Given the description of an element on the screen output the (x, y) to click on. 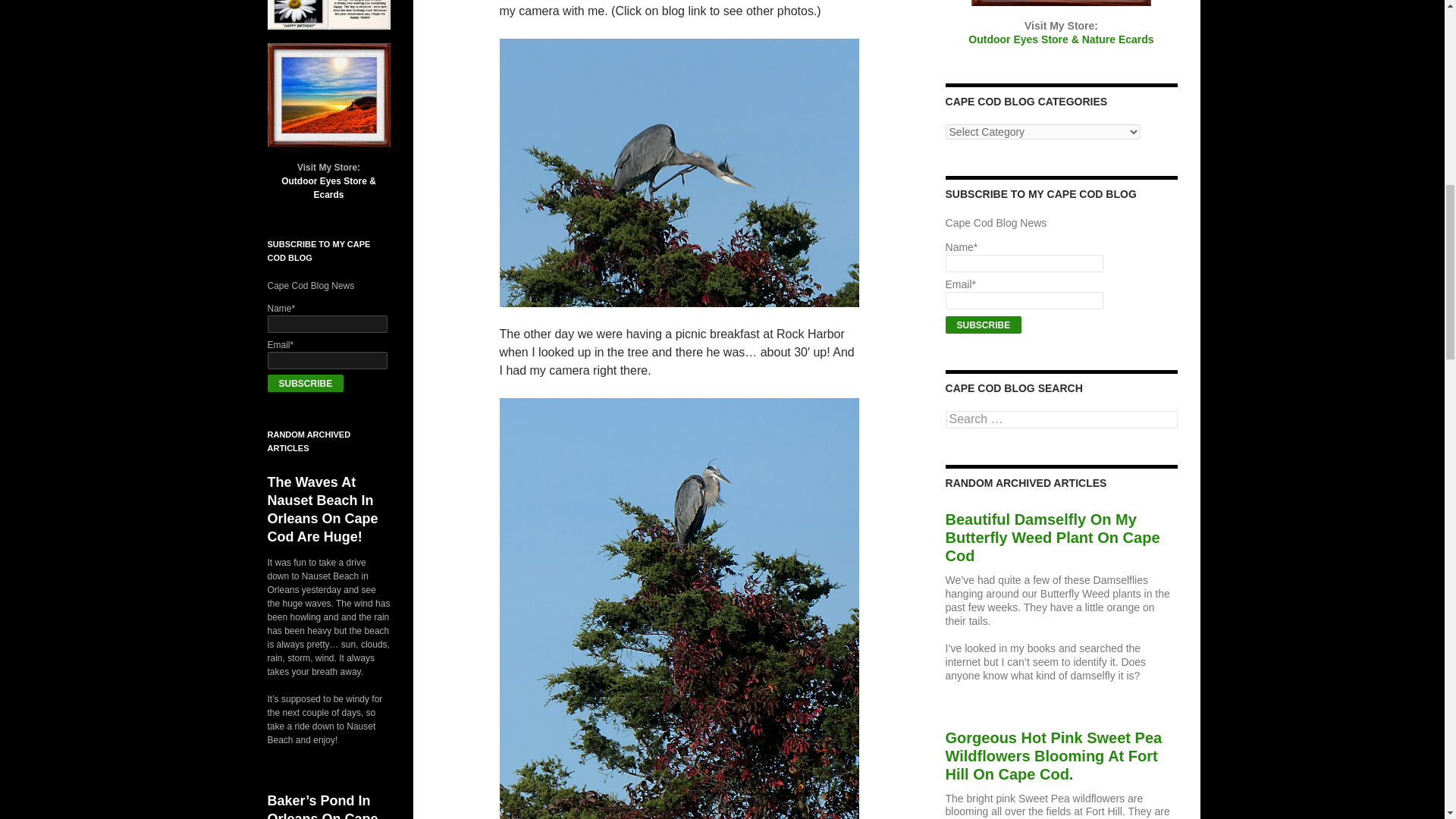
Subscribe (983, 324)
Subscribe (304, 383)
